Given the description of an element on the screen output the (x, y) to click on. 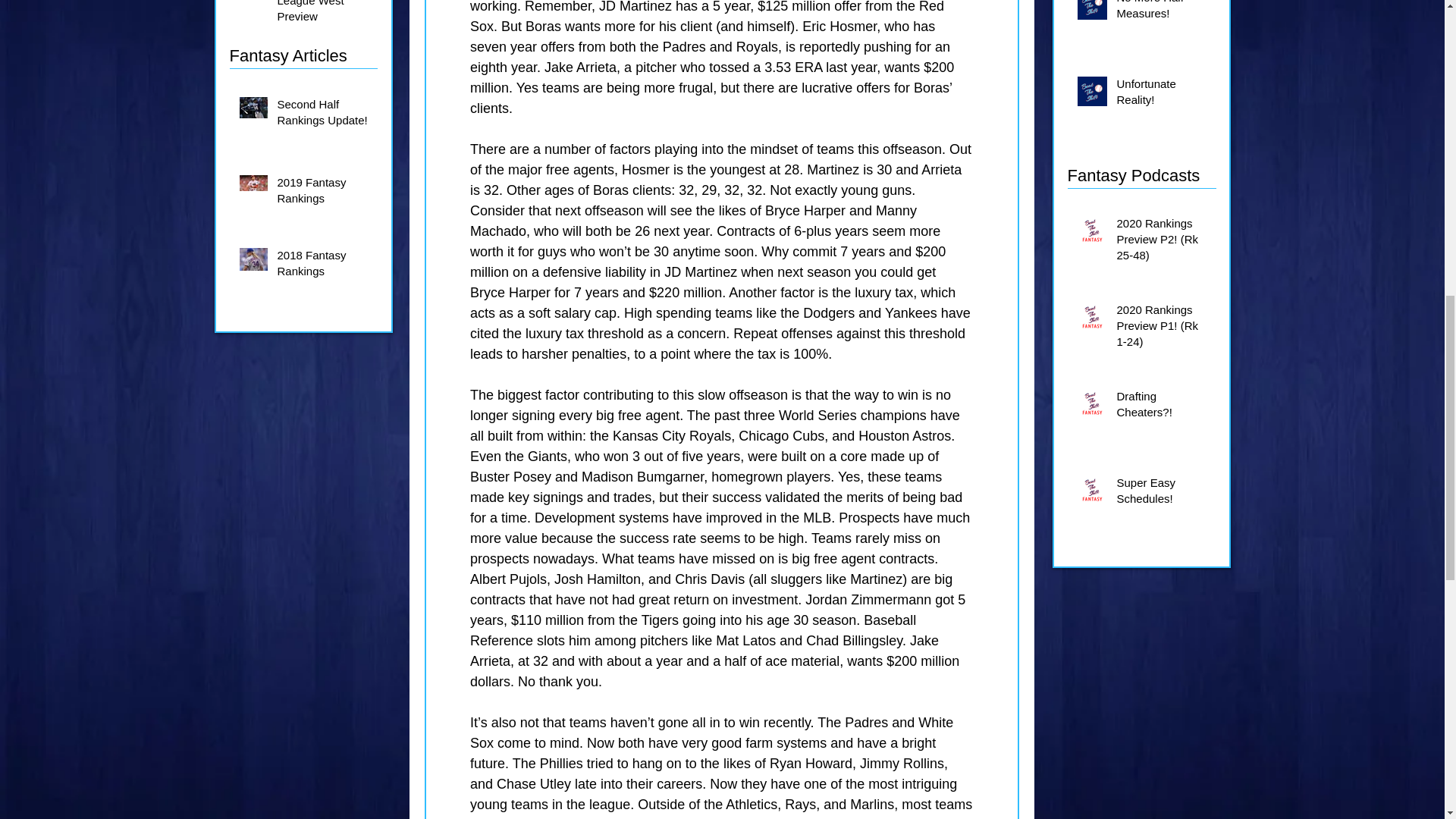
Drafting Cheaters?! (1162, 406)
Unfortunate Reality! (1162, 94)
Second Half Rankings Update! (323, 115)
Super Easy Schedules! (1162, 493)
2018 Fantasy Rankings (323, 266)
No More Half Measures! (1162, 13)
2019 Fantasy Rankings (323, 193)
2020 American League West Preview (323, 15)
